Given the description of an element on the screen output the (x, y) to click on. 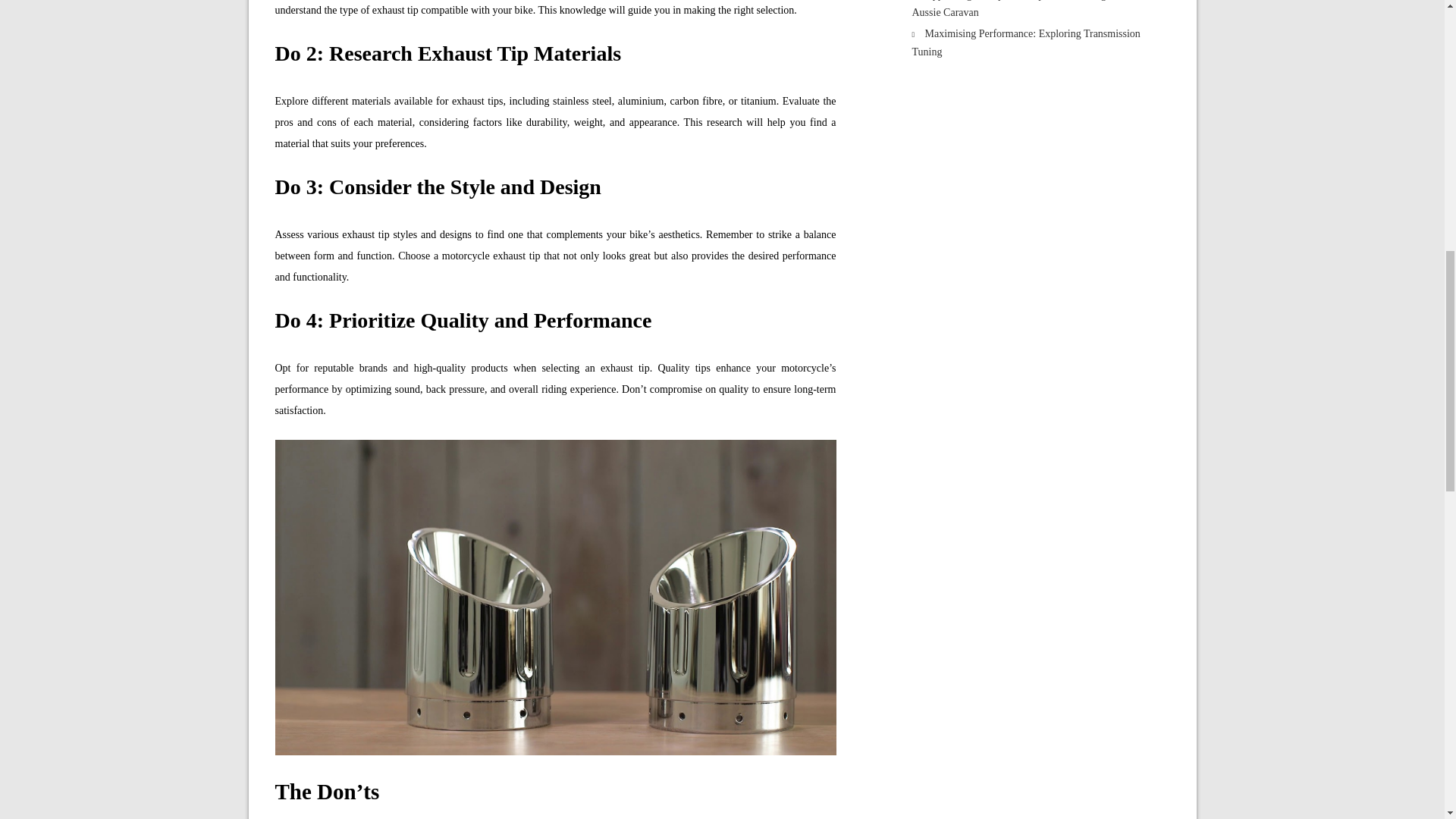
Maximising Performance: Exploring Transmission Tuning (1025, 42)
